Given the description of an element on the screen output the (x, y) to click on. 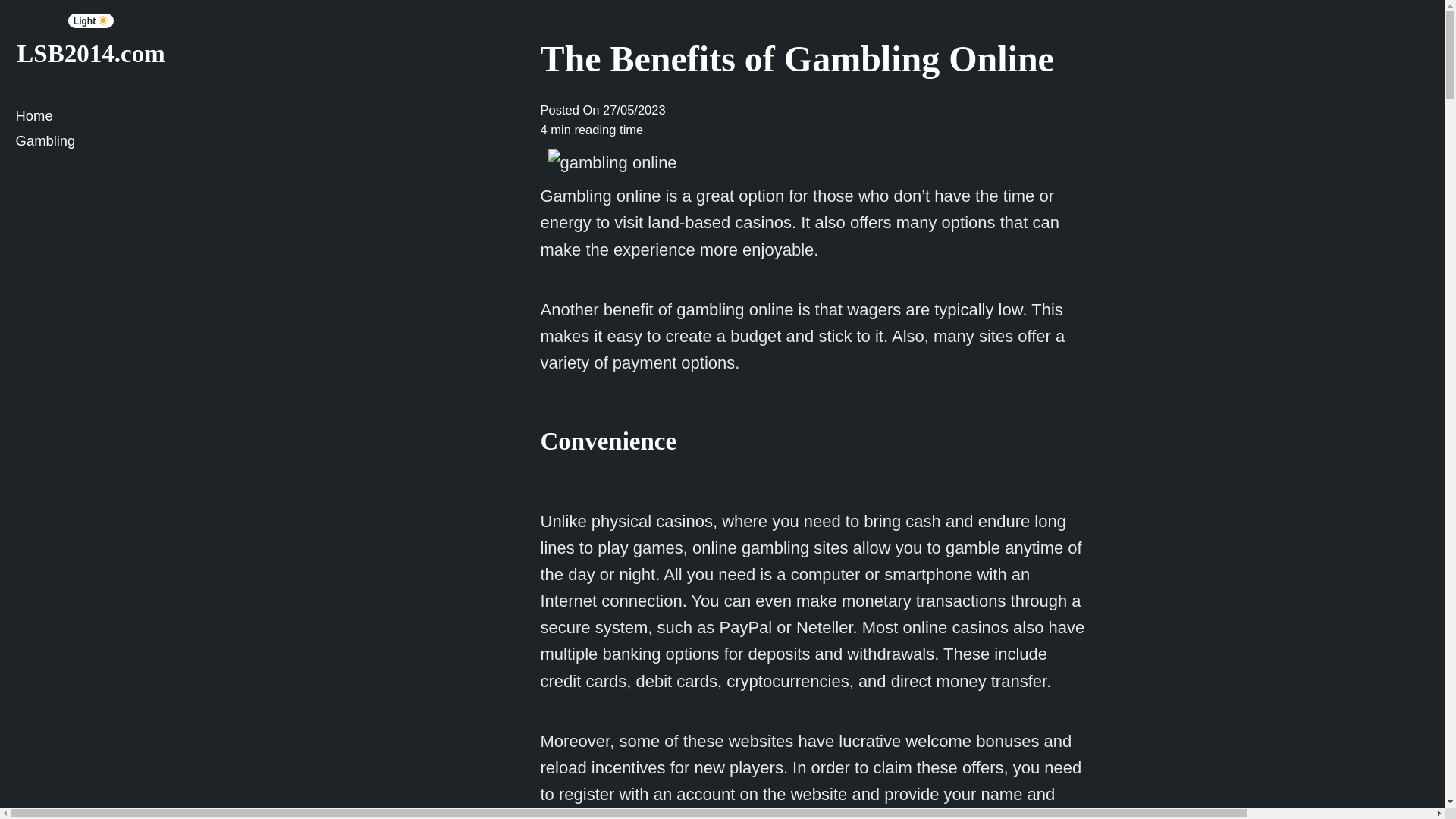
Home (90, 115)
Gambling (90, 140)
LSB2014.com (90, 53)
